Given the description of an element on the screen output the (x, y) to click on. 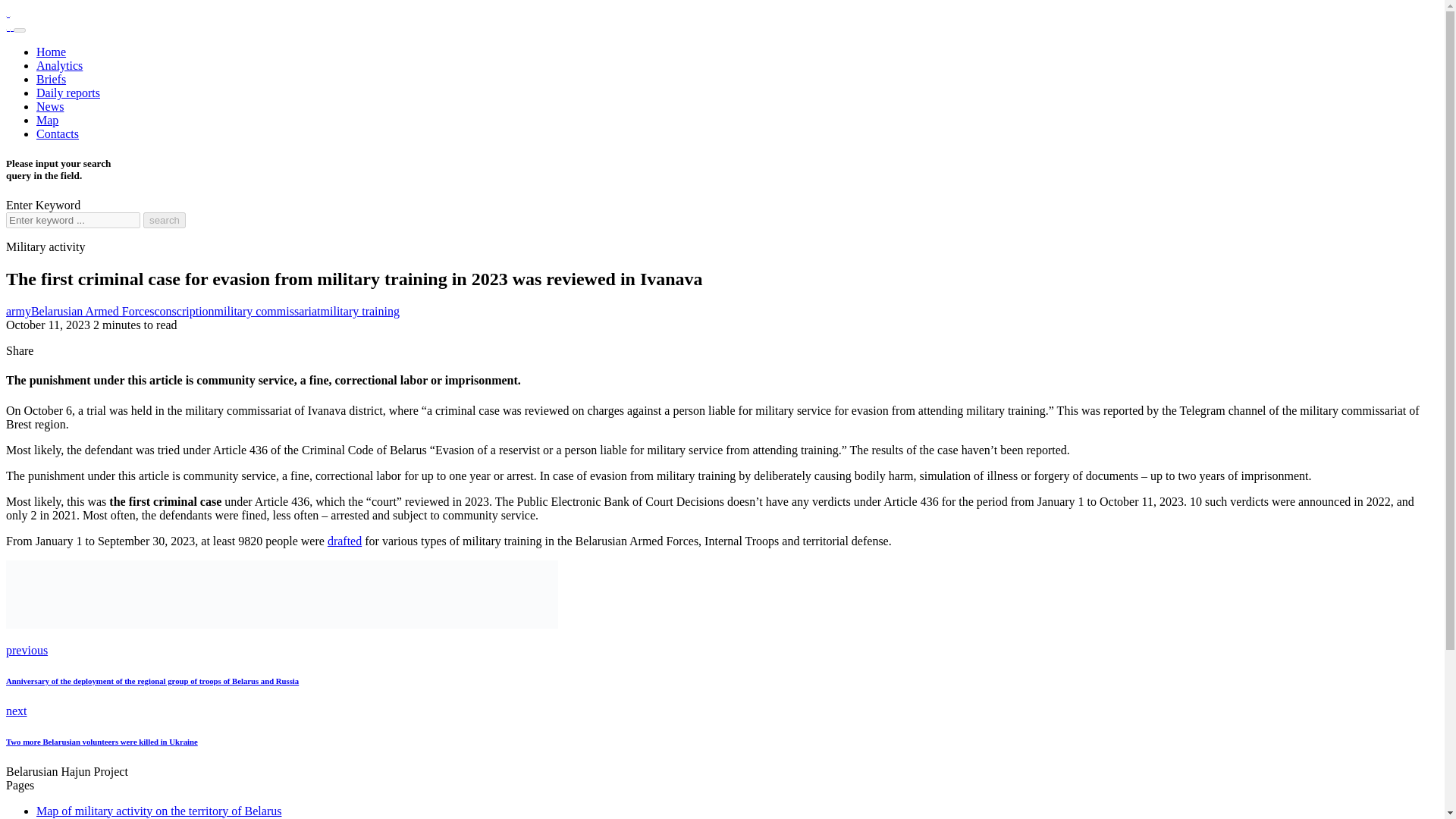
Daily reports (68, 92)
Map of military activity on the territory of Belarus (158, 810)
drafted (344, 540)
army (17, 310)
search (164, 220)
military commissariat (267, 310)
Contacts (57, 818)
Briefs (50, 78)
Contacts (57, 133)
News (50, 106)
